Given the description of an element on the screen output the (x, y) to click on. 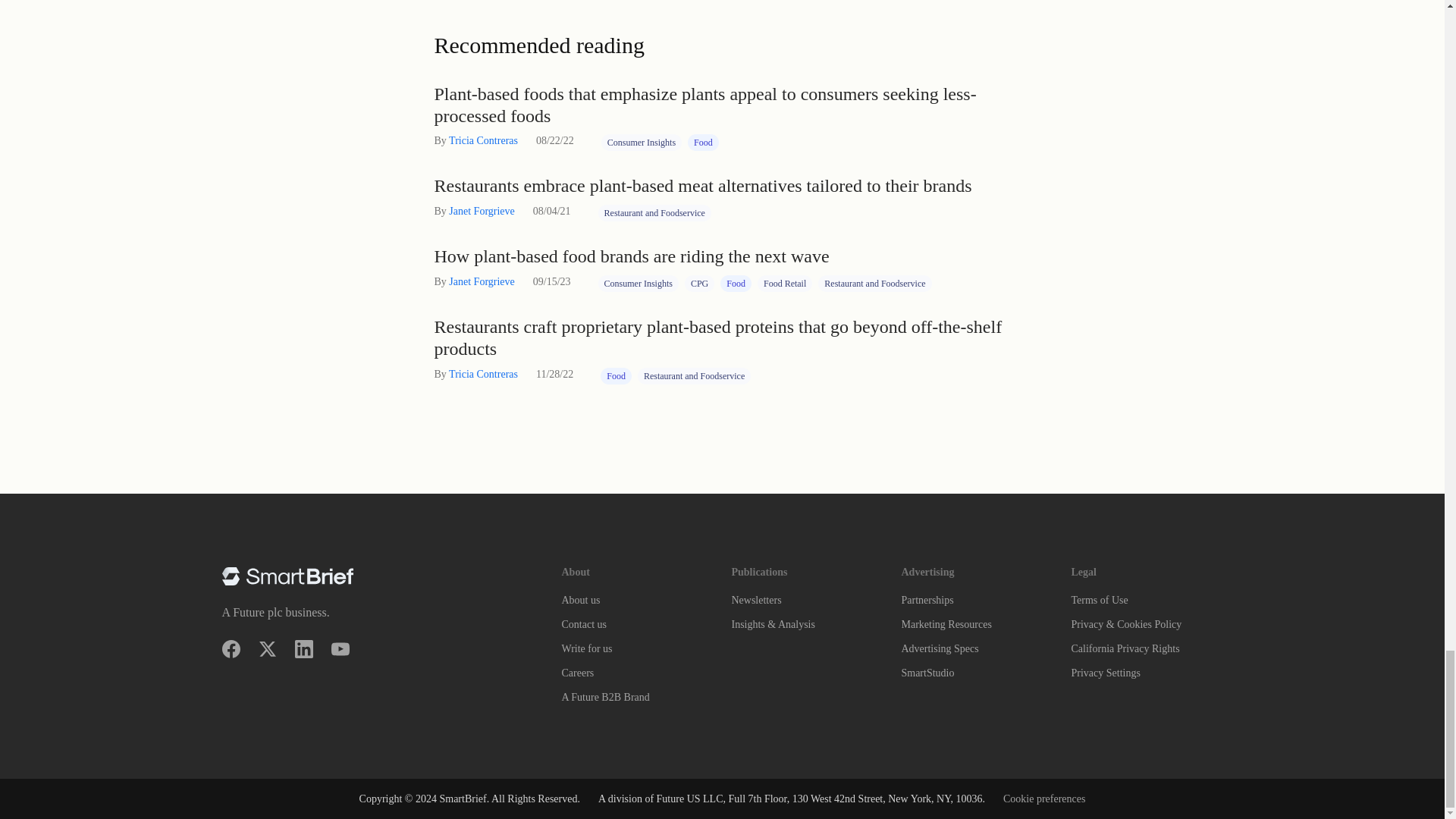
LinkedIn (303, 648)
YouTube (339, 648)
Facebook (230, 648)
